Given the description of an element on the screen output the (x, y) to click on. 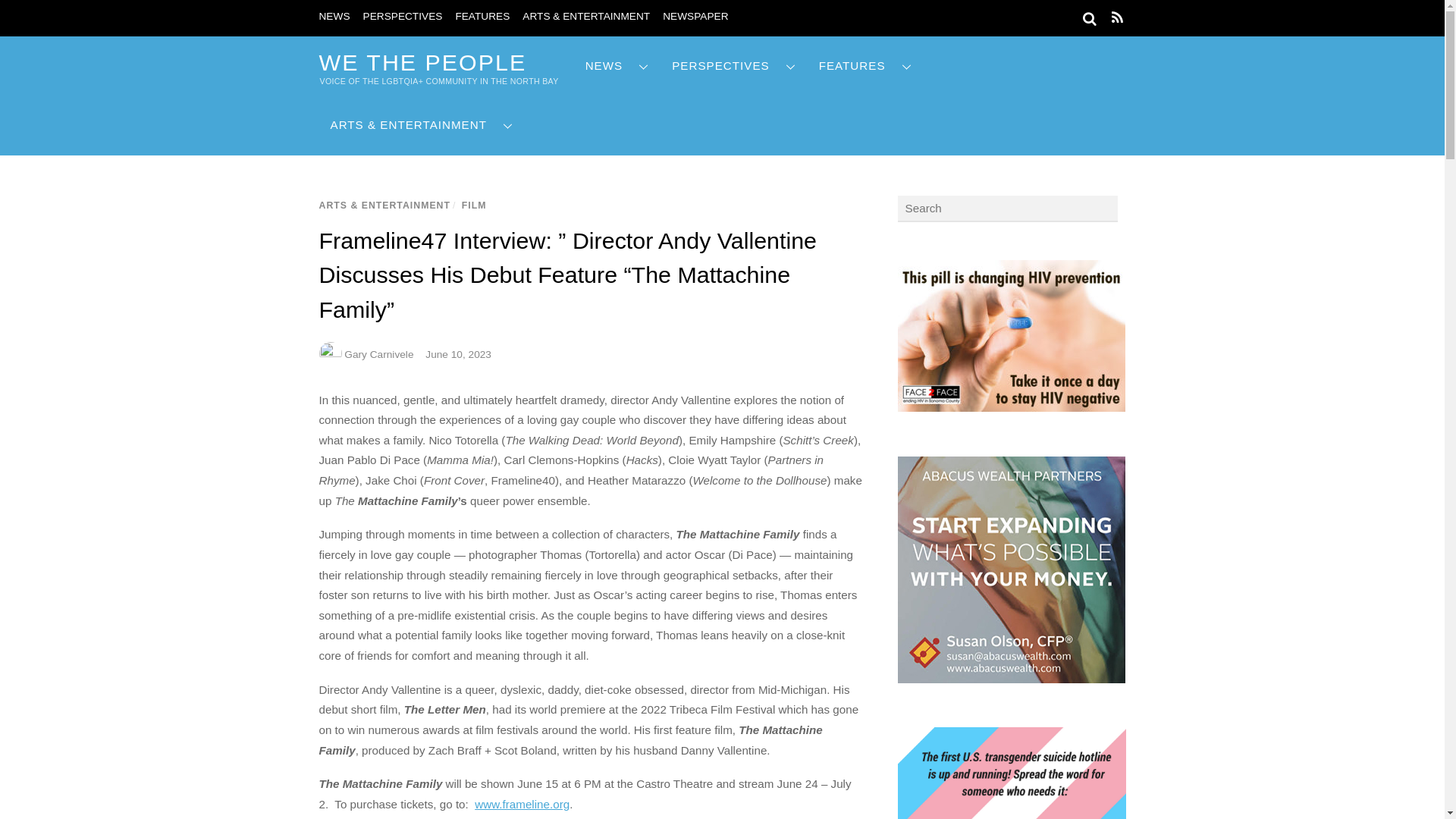
NEWS (617, 66)
NEWS (333, 16)
FEATURES (481, 16)
WE THE PEOPLE (421, 62)
We The People (421, 62)
NEWSPAPER (695, 16)
PERSPECTIVES (402, 16)
